Given the description of an element on the screen output the (x, y) to click on. 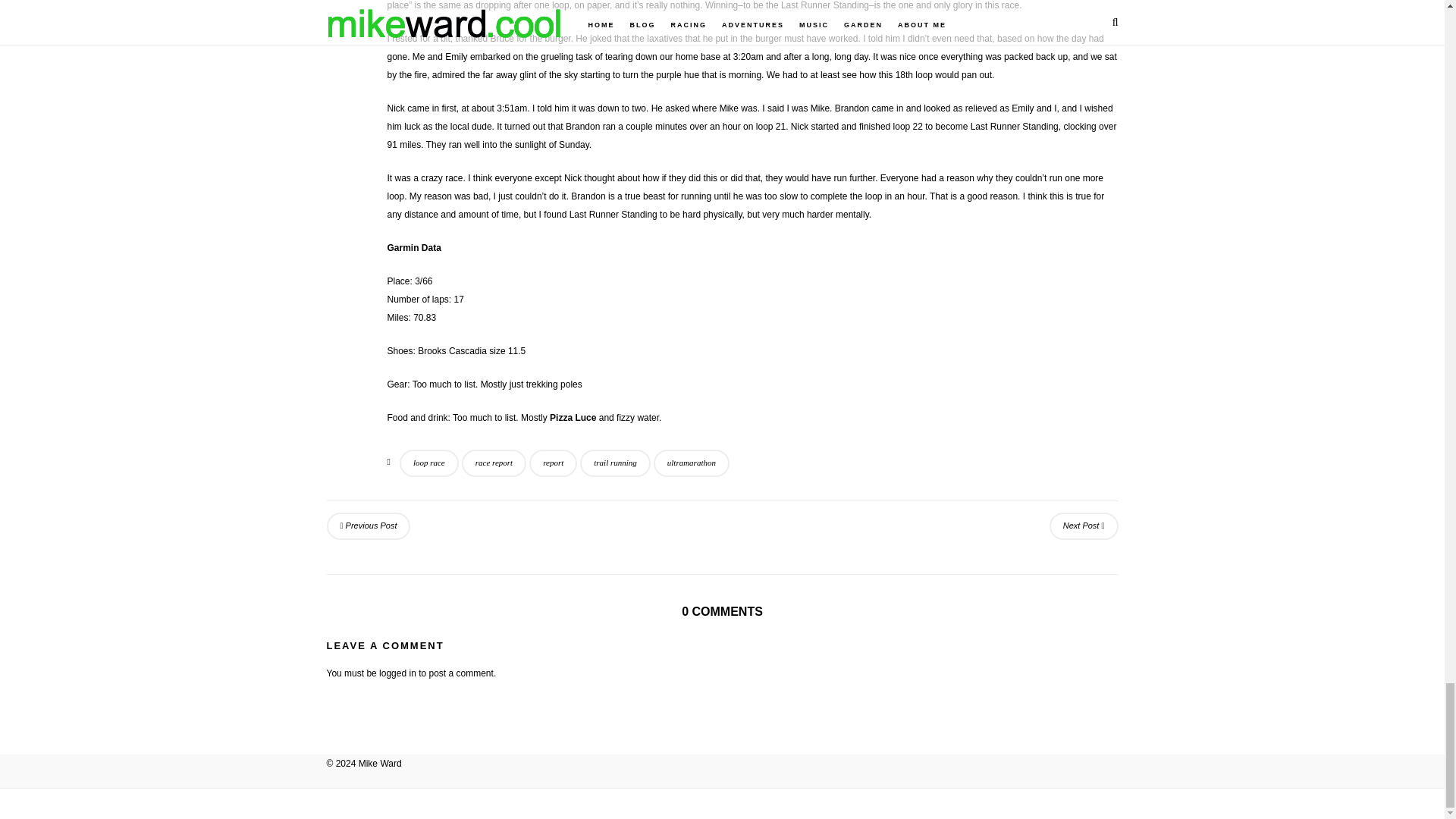
trail running (614, 462)
Next Post (1083, 525)
report (552, 462)
Fault Line (1083, 525)
Pizza Luce (572, 417)
race report (493, 462)
New Strength Routine (368, 525)
Previous Post (368, 525)
loop race (428, 462)
Garmin Data (414, 247)
logged in (397, 673)
ultramarathon (691, 462)
